Given the description of an element on the screen output the (x, y) to click on. 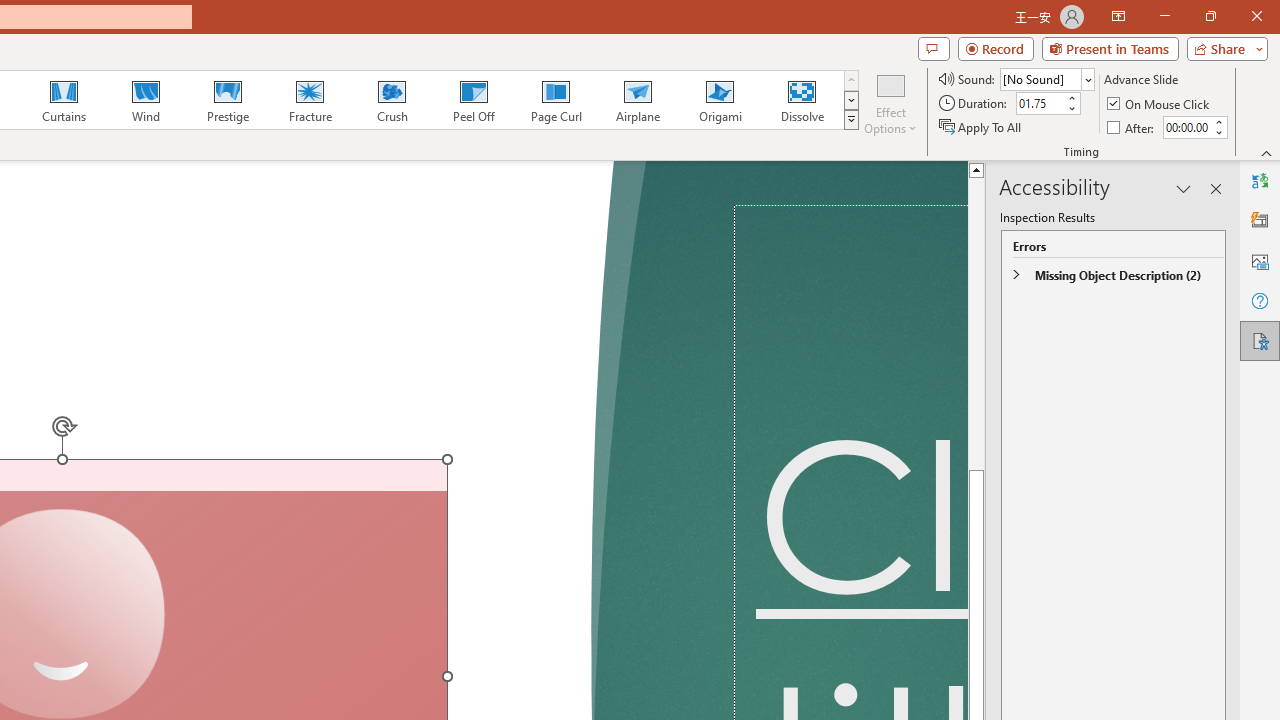
Page Curl (555, 100)
Peel Off (473, 100)
Airplane (637, 100)
Duration (1039, 103)
Transition Effects (850, 120)
